Given the description of an element on the screen output the (x, y) to click on. 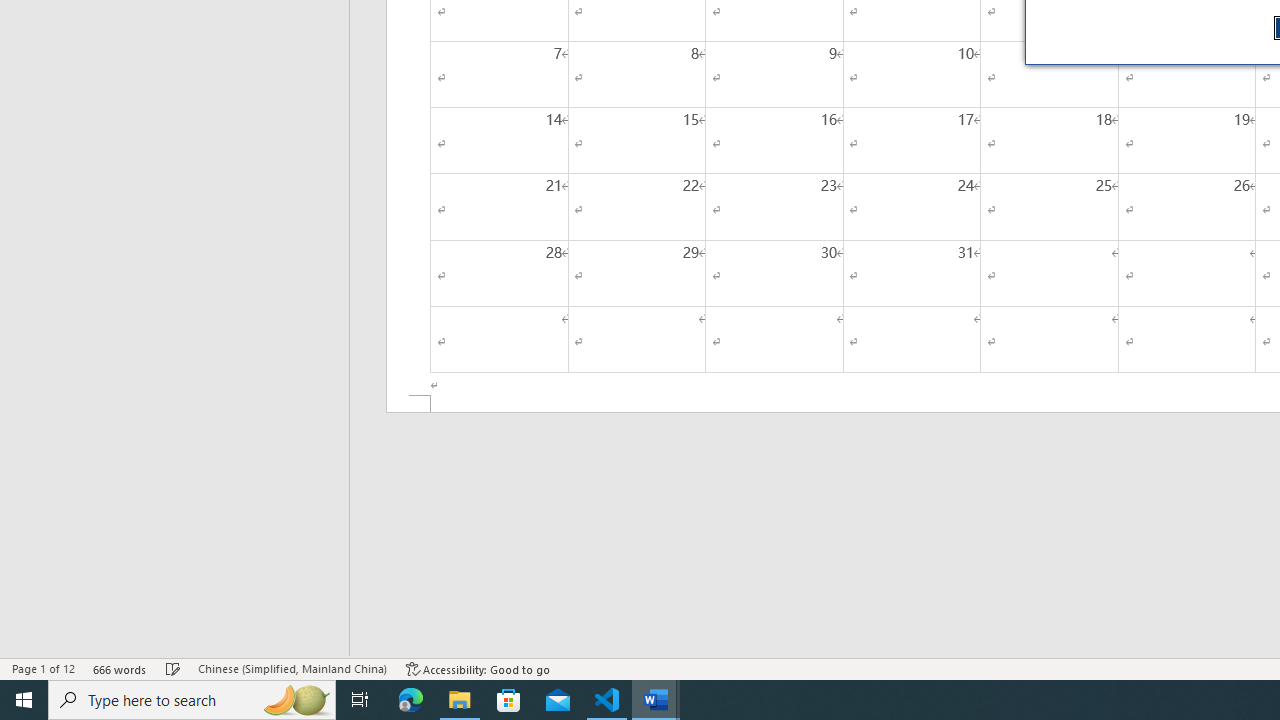
Page Number Page 1 of 12 (43, 668)
